Given the description of an element on the screen output the (x, y) to click on. 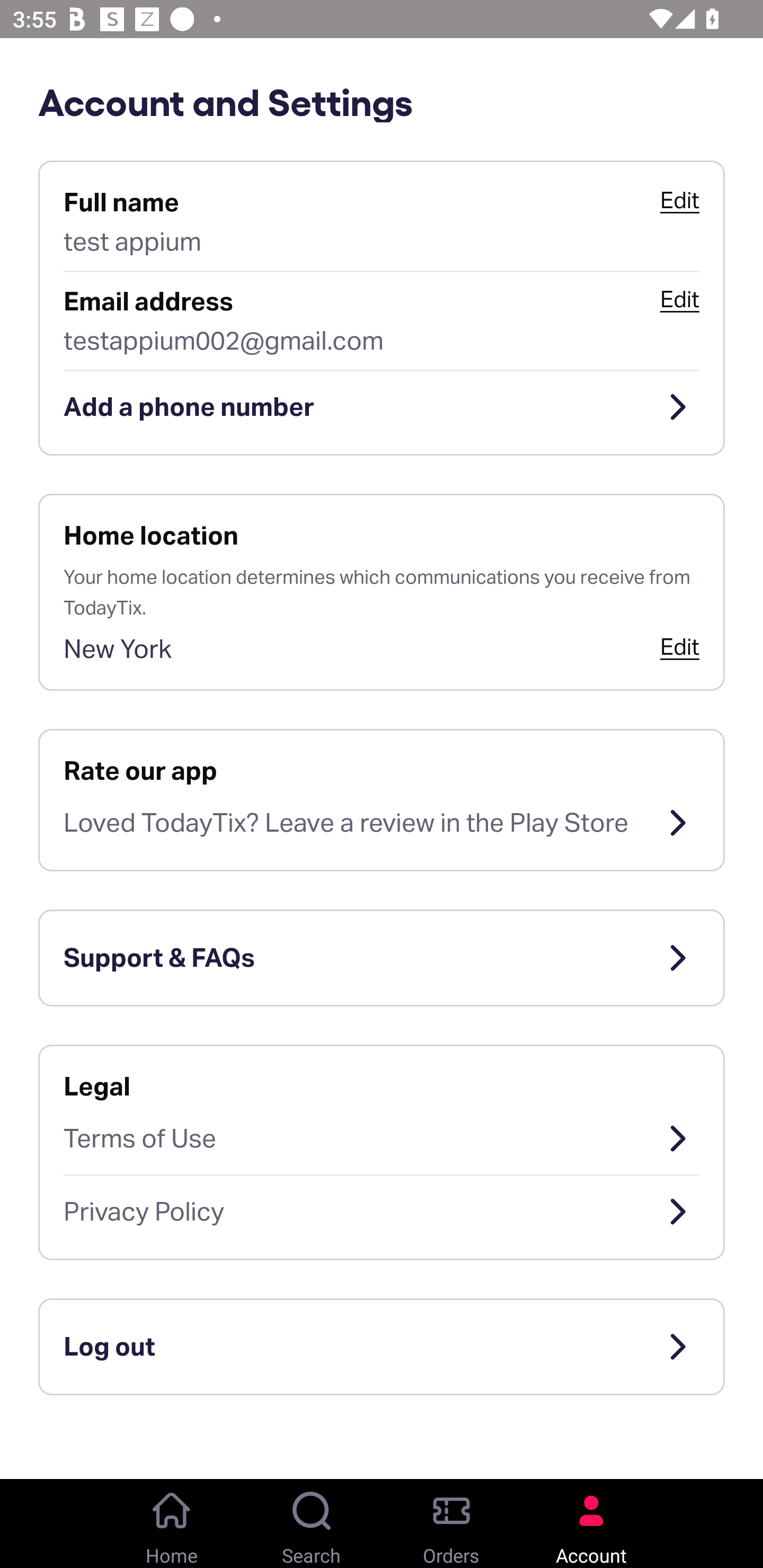
Edit (679, 200)
Edit (679, 299)
Add a phone number (381, 406)
Edit (679, 646)
Loved TodayTix? Leave a review in the Play Store (381, 822)
Support & FAQs (381, 957)
Terms of Use (381, 1137)
Privacy Policy (381, 1211)
Log out (381, 1346)
Home (171, 1523)
Search (311, 1523)
Orders (451, 1523)
